Given the description of an element on the screen output the (x, y) to click on. 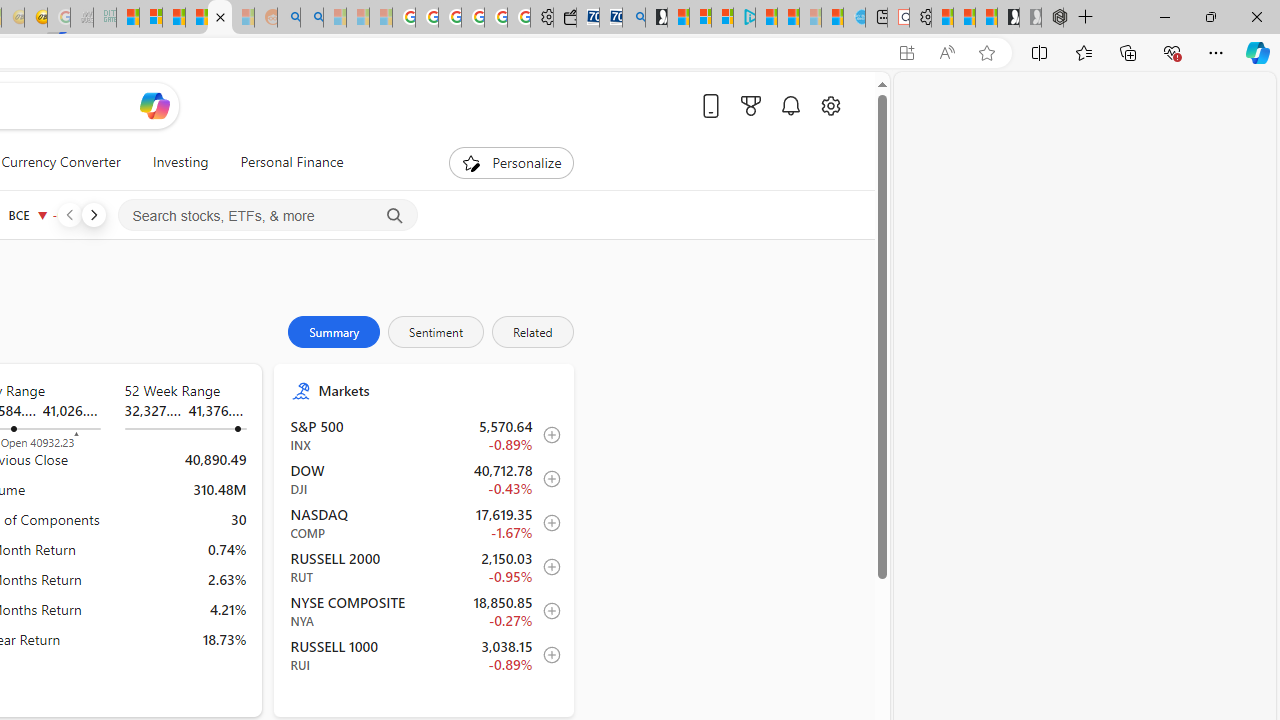
Utah sues federal government - Search (311, 17)
Home | Sky Blue Bikes - Sky Blue Bikes (854, 17)
